Given the description of an element on the screen output the (x, y) to click on. 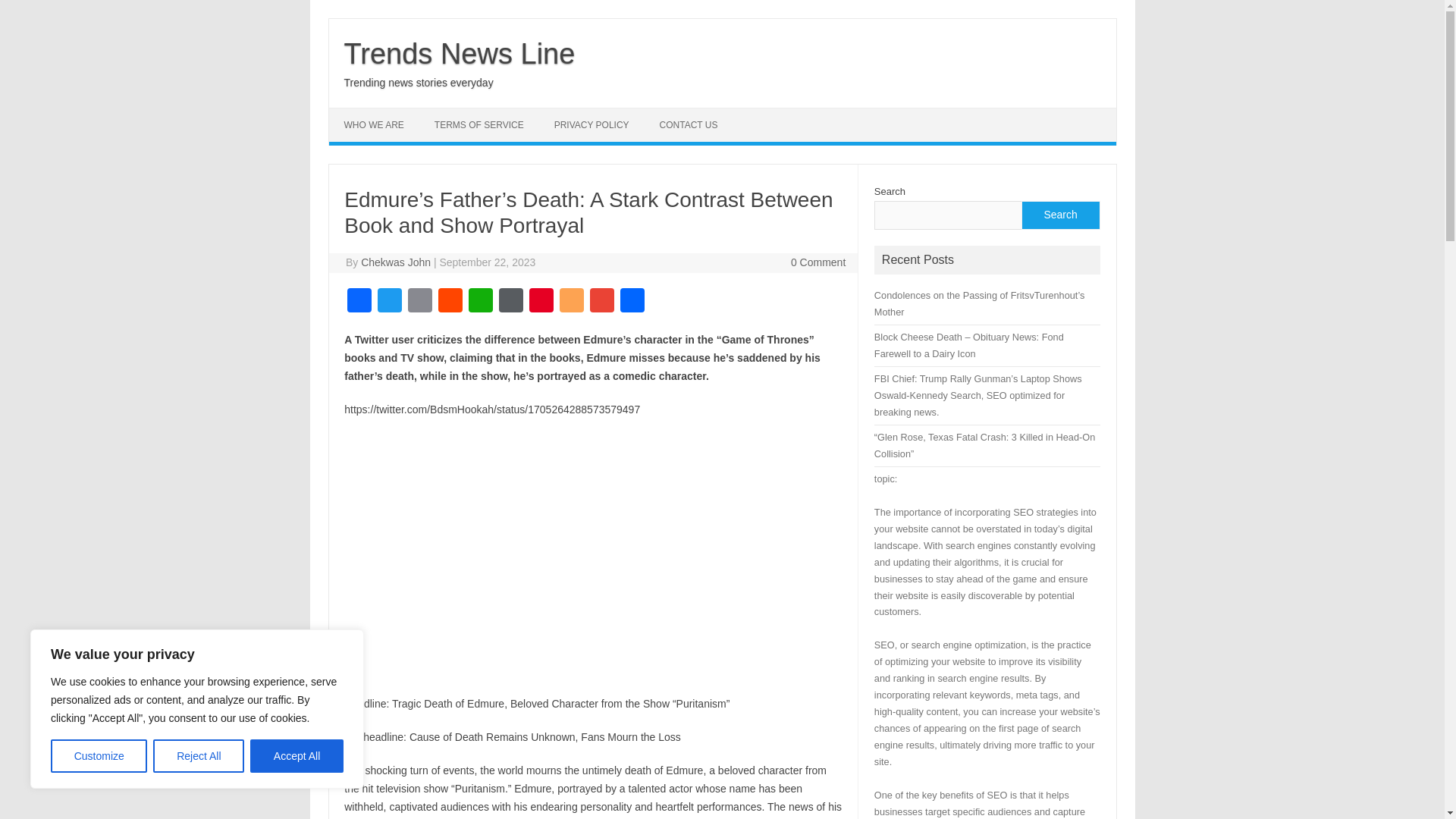
Pinterest (540, 302)
WhatsApp (480, 302)
Reject All (198, 756)
CONTACT US (689, 124)
Reddit (450, 302)
Blogger (571, 302)
Share (632, 302)
WordPress (510, 302)
Posts by Chekwas John (395, 262)
WHO WE ARE (374, 124)
Twitter (389, 302)
WhatsApp (480, 302)
Chekwas John (395, 262)
